Given the description of an element on the screen output the (x, y) to click on. 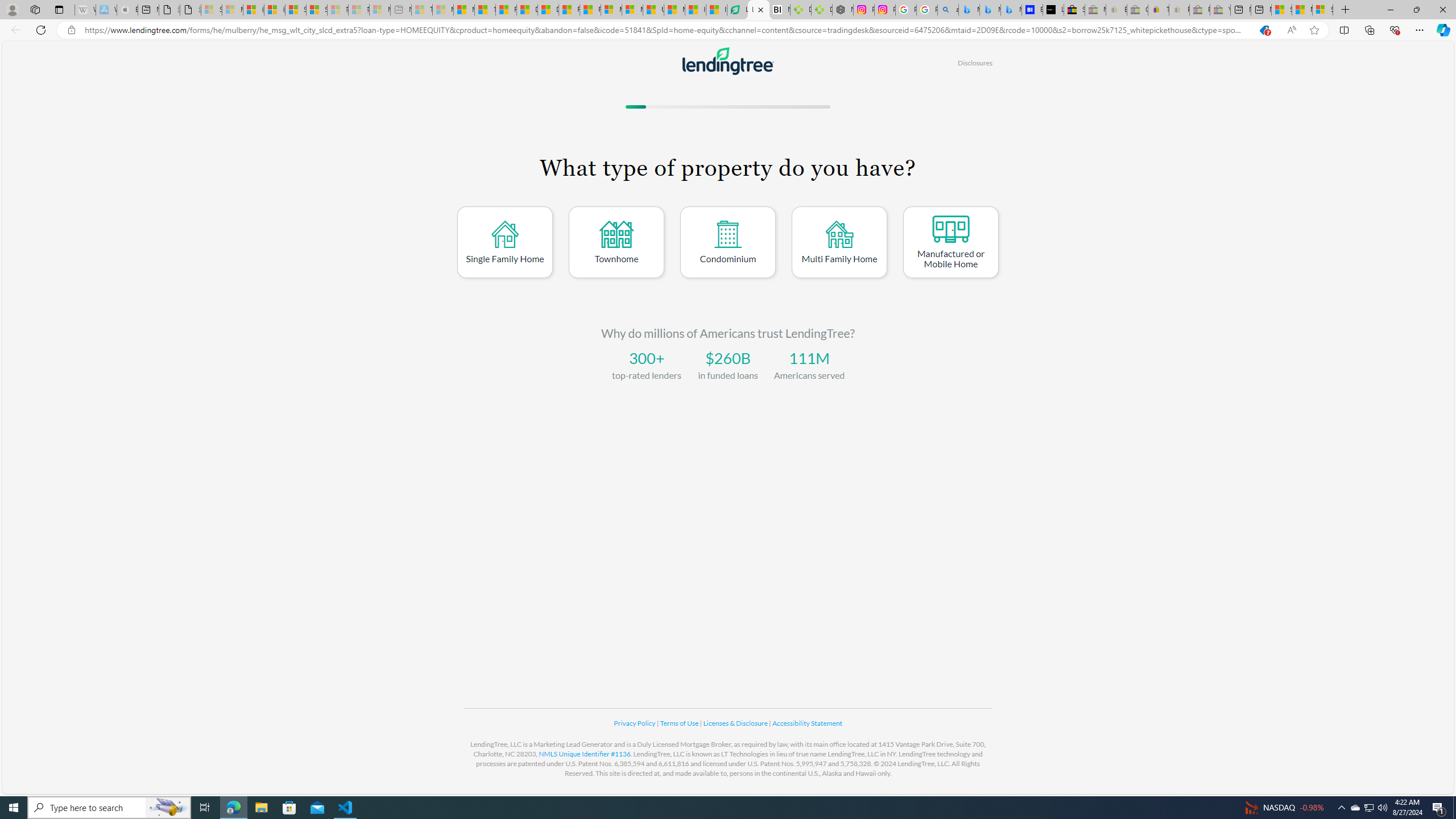
Threats and offensive language policy | eBay (1157, 9)
Yard, Garden & Outdoor Living - Sleeping (1219, 9)
Nvidia va a poner a prueba la paciencia de los inversores (779, 9)
Disclosures (975, 62)
